Given the description of an element on the screen output the (x, y) to click on. 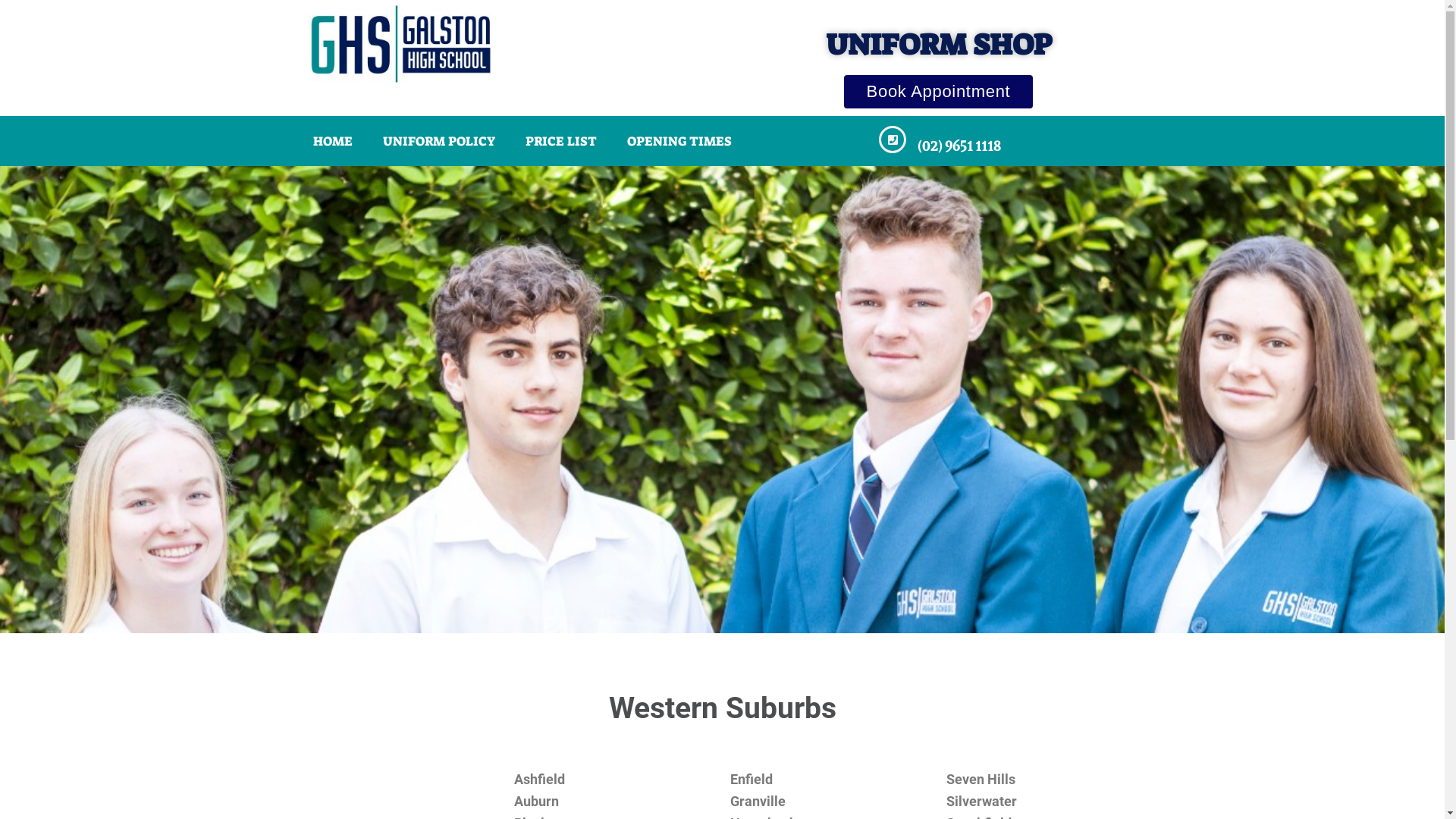
HOME Element type: text (332, 140)
(02) 9651 1118 Element type: text (959, 145)
UNIFORM POLICY Element type: text (438, 140)
OPENING TIMES Element type: text (678, 140)
Book Appointment Element type: text (938, 91)
PRICE LIST Element type: text (560, 140)
